Given the description of an element on the screen output the (x, y) to click on. 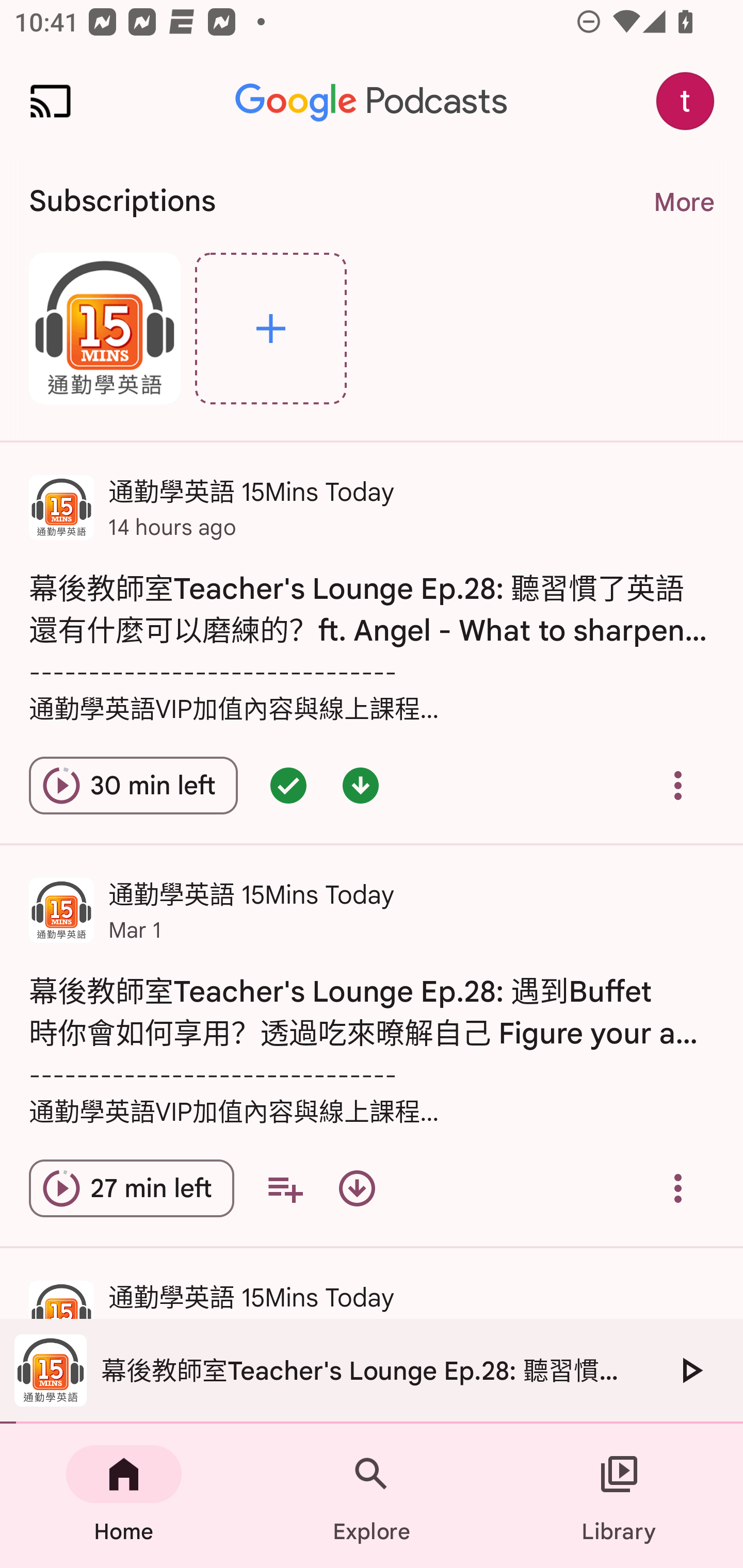
Cast. Disconnected (50, 101)
More More. Navigate to subscriptions page. (683, 202)
通勤學英語 15Mins Today (104, 328)
Explore (270, 328)
Episode queued - double tap for options (288, 785)
Episode downloaded - double tap for options (360, 785)
Overflow menu (677, 785)
Add to your queue (284, 1188)
Download episode (356, 1188)
Overflow menu (677, 1188)
Play (690, 1370)
Explore (371, 1495)
Library (619, 1495)
